Given the description of an element on the screen output the (x, y) to click on. 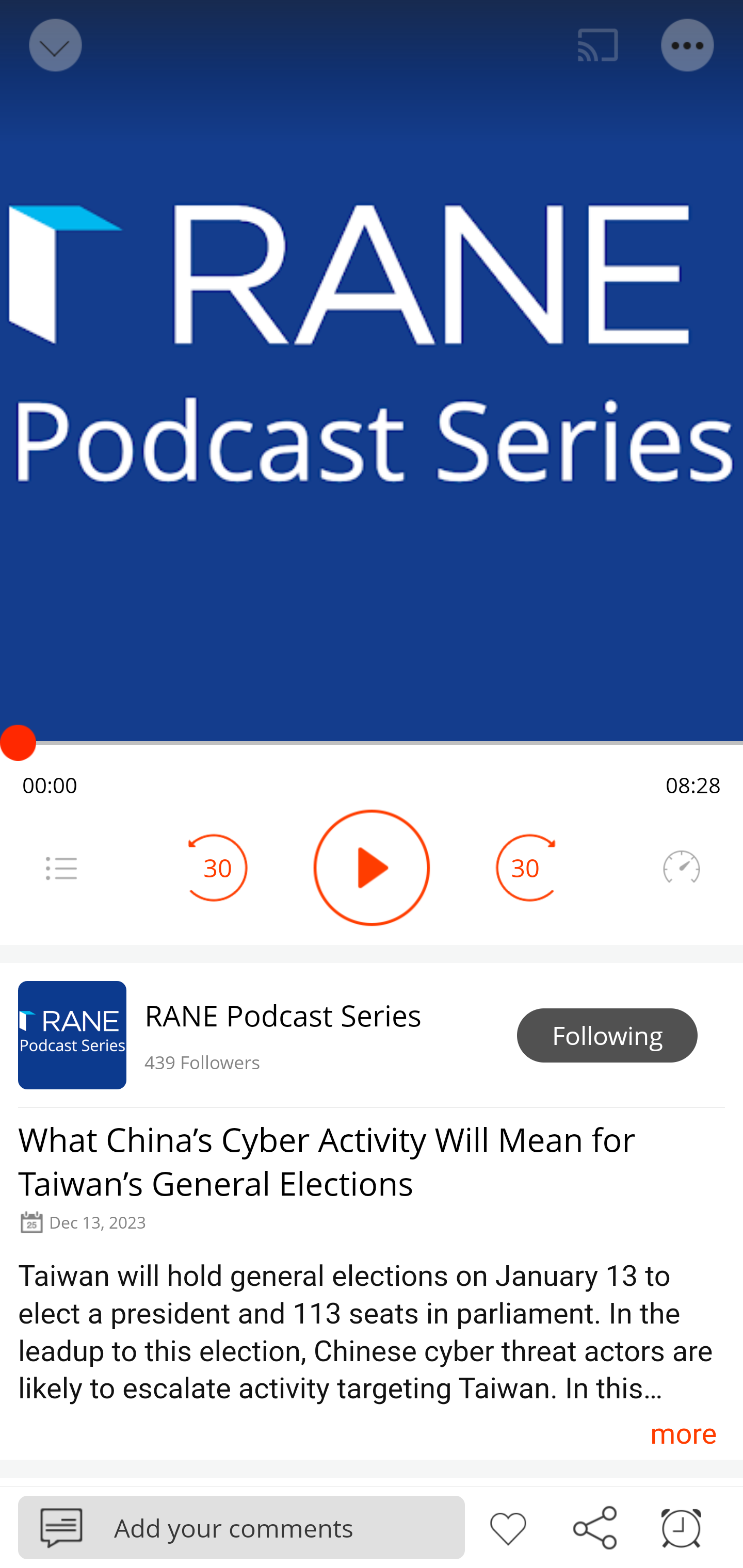
Back (53, 45)
Cast. Disconnected (597, 45)
Menu (688, 45)
Play (371, 867)
30 Seek Backward (217, 867)
30 Seek Forward (525, 867)
Menu (60, 867)
Speedometer (681, 867)
RANE Podcast Series 439 Followers Following (371, 1034)
Following (607, 1035)
more (682, 1432)
Like (508, 1526)
Share (594, 1526)
Sleep timer (681, 1526)
Podbean Add your comments (241, 1526)
